Given the description of an element on the screen output the (x, y) to click on. 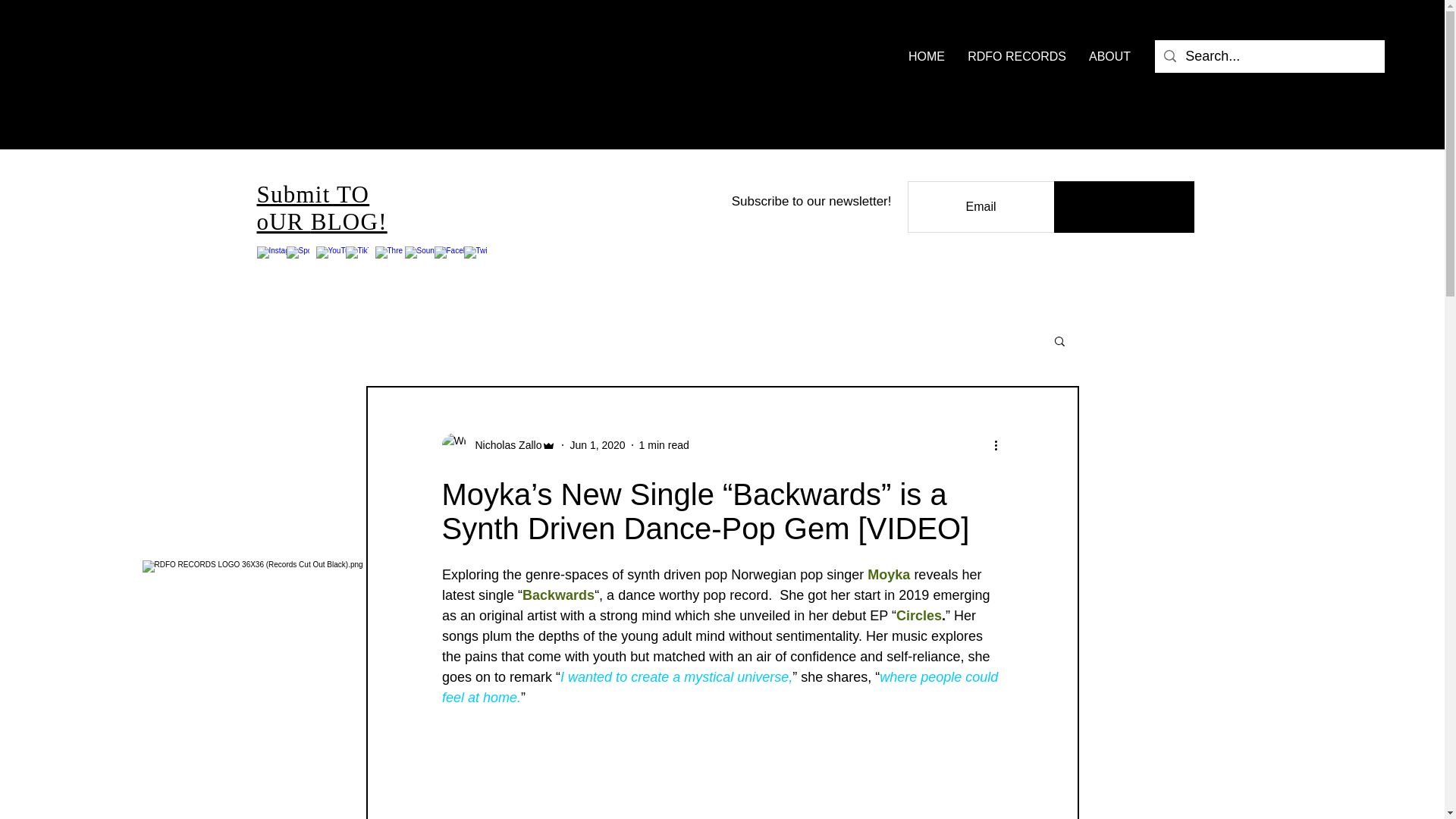
Jun 1, 2020 (596, 444)
Moyka (888, 574)
Submit TO oUR BLOG! (321, 207)
RDFO RECORDS (1016, 56)
Nicholas  Zallo (503, 444)
1 min read (663, 444)
Circles (919, 615)
HOME (926, 56)
Backwards (558, 595)
ABOUT (1109, 56)
Subscribe (1123, 206)
